Given the description of an element on the screen output the (x, y) to click on. 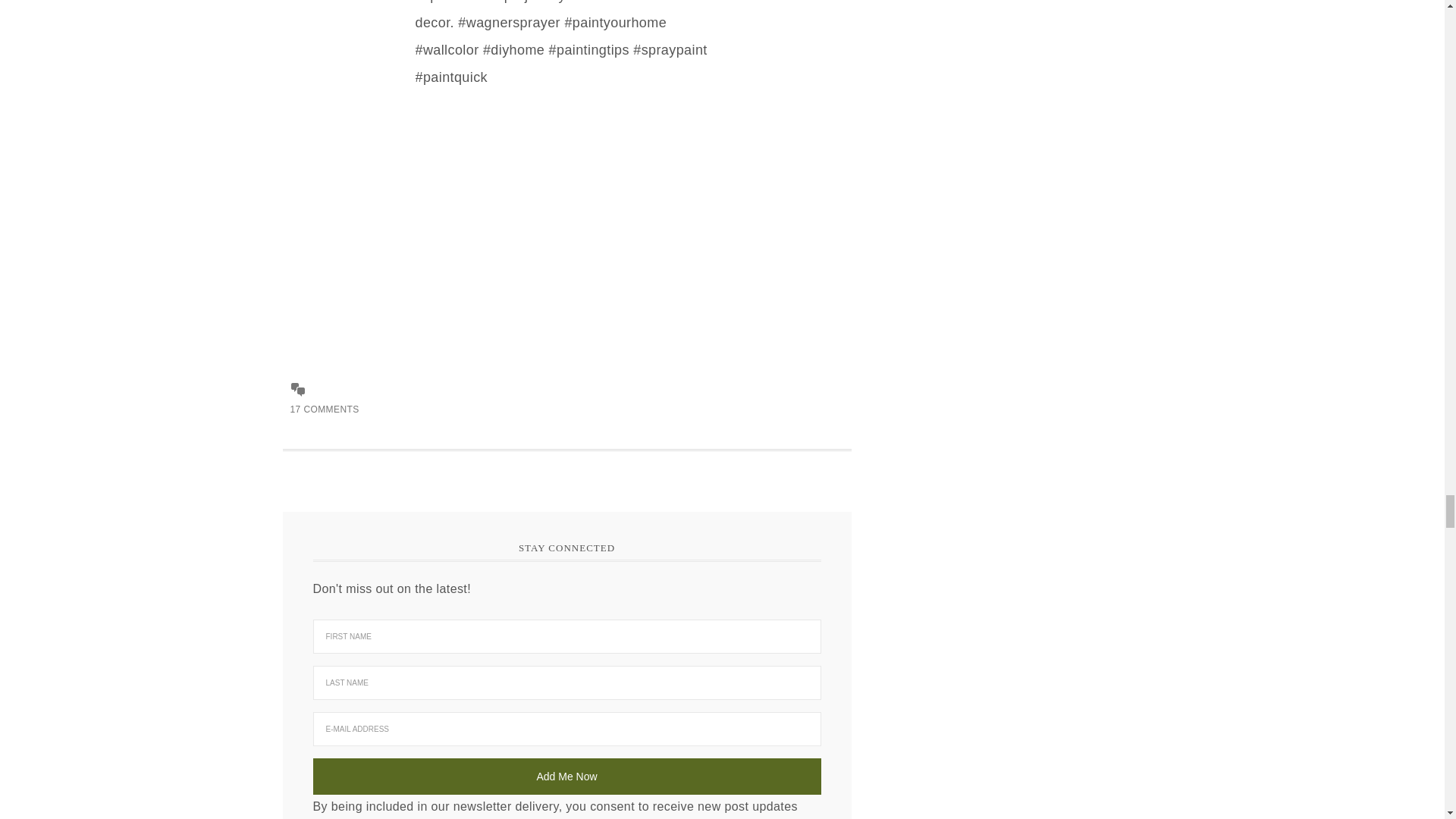
Add Me Now (567, 776)
